Given the description of an element on the screen output the (x, y) to click on. 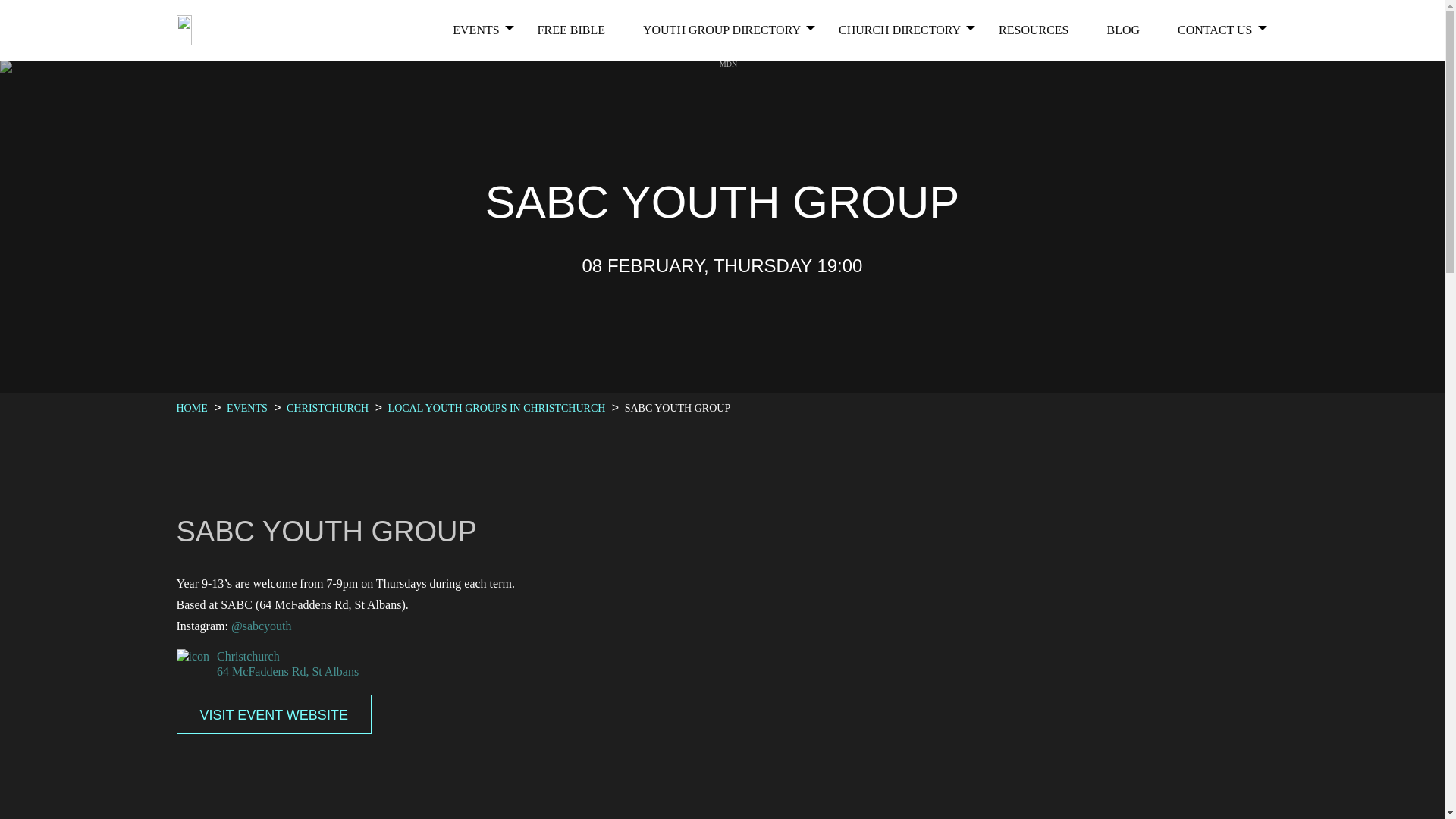
CHURCH DIRECTORY (899, 29)
EVENTS (475, 29)
FREE BIBLE (571, 29)
YOUTH GROUP DIRECTORY (721, 29)
